Given the description of an element on the screen output the (x, y) to click on. 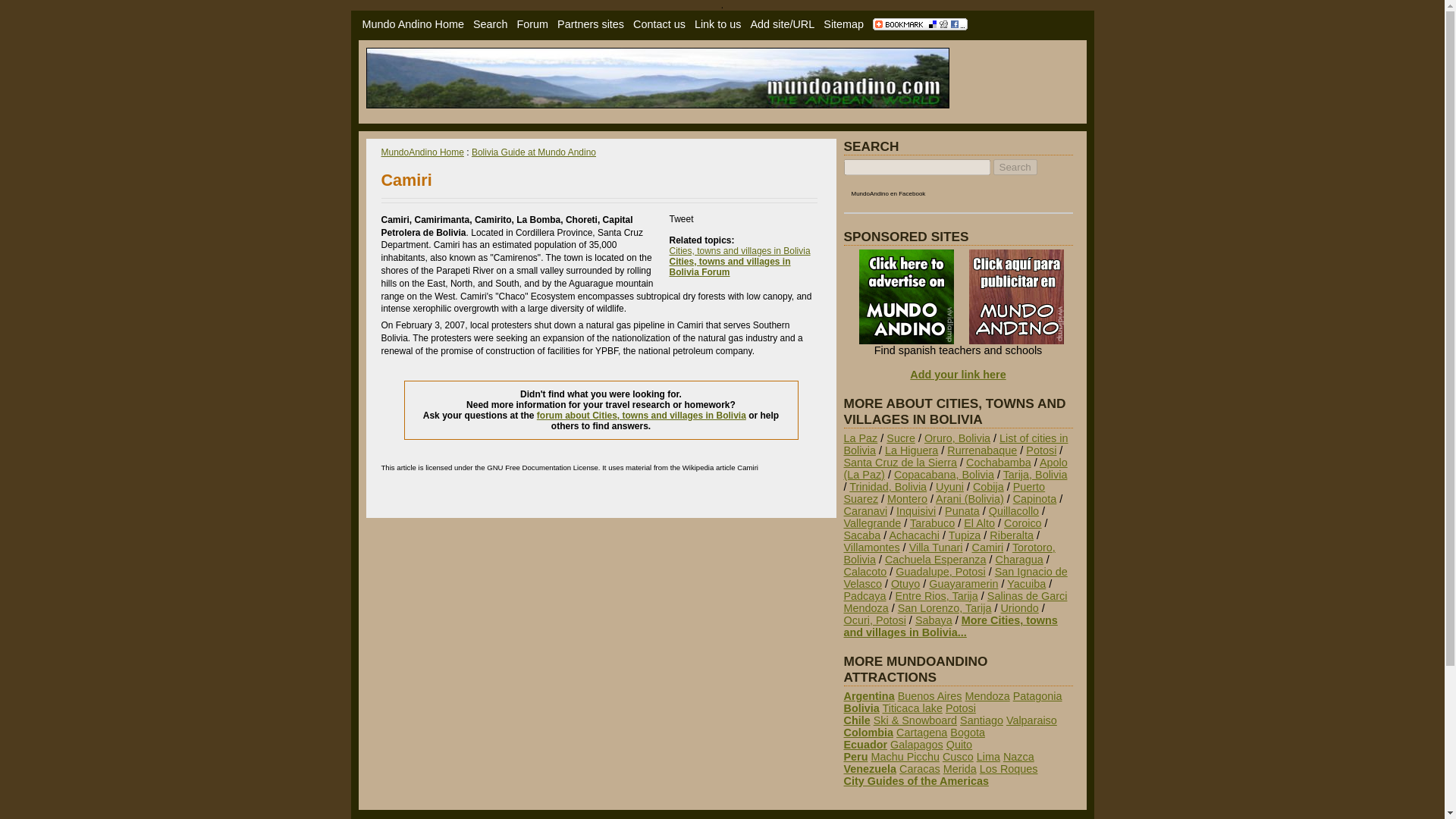
Potosi (1041, 450)
Uyuni (949, 486)
Capinota (1035, 499)
Cities, towns and villages in Bolivia Forum (729, 266)
Partners sites (590, 24)
List of cities in Bolivia (955, 444)
Cochabamba (998, 462)
Inquisivi (916, 510)
Copacabana, Bolivia (943, 474)
forum (532, 24)
Sucre (900, 438)
Trinidad, Bolivia (887, 486)
Home (413, 24)
Sitemap (843, 24)
Puerto Suarez (944, 492)
